Given the description of an element on the screen output the (x, y) to click on. 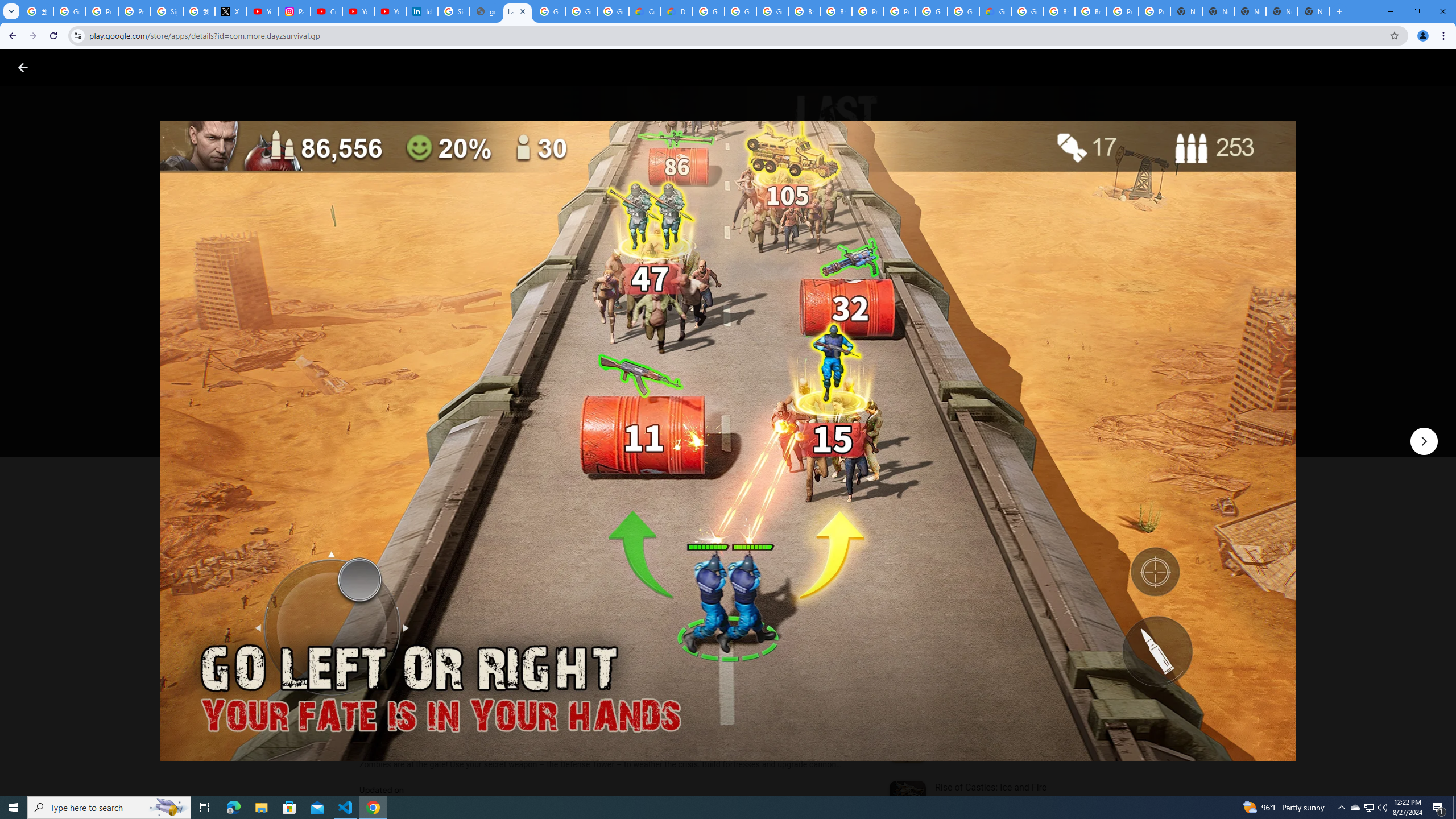
New Tab (1313, 11)
Google Cloud Platform (1027, 11)
Privacy Help Center - Policies Help (134, 11)
X (230, 11)
Close screenshot viewer (22, 67)
